Given the description of an element on the screen output the (x, y) to click on. 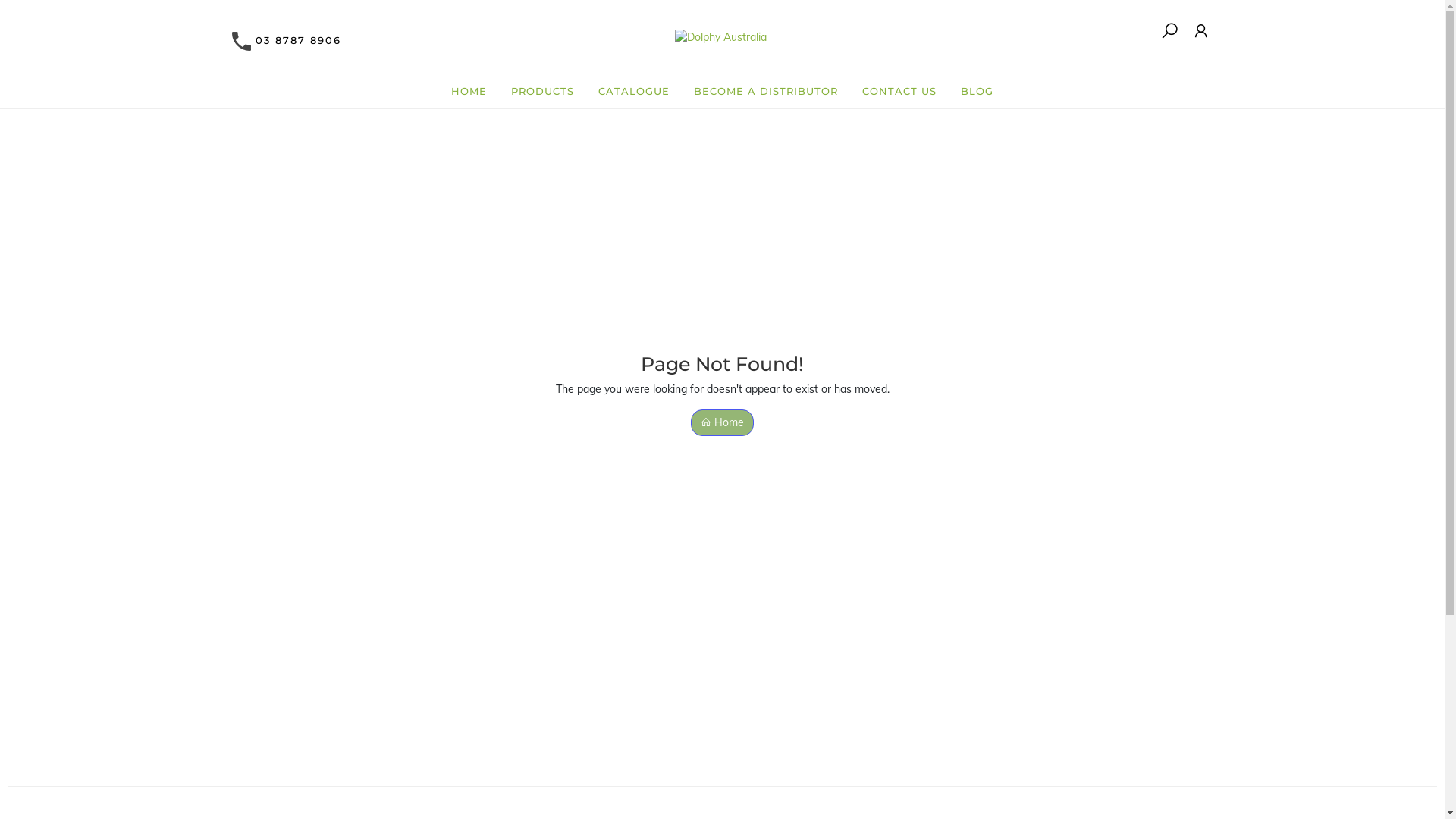
CONTACT US Element type: text (899, 91)
Dolphy Australia Element type: hover (53, 14)
CATALOGUE Element type: text (633, 91)
03 8787 8906 Element type: text (297, 40)
PRODUCTS Element type: text (542, 91)
Home Element type: text (721, 422)
BLOG Element type: text (977, 91)
BECOME A DISTRIBUTOR Element type: text (765, 91)
HOME Element type: text (468, 91)
Dolphy Australia Element type: hover (721, 30)
